Given the description of an element on the screen output the (x, y) to click on. 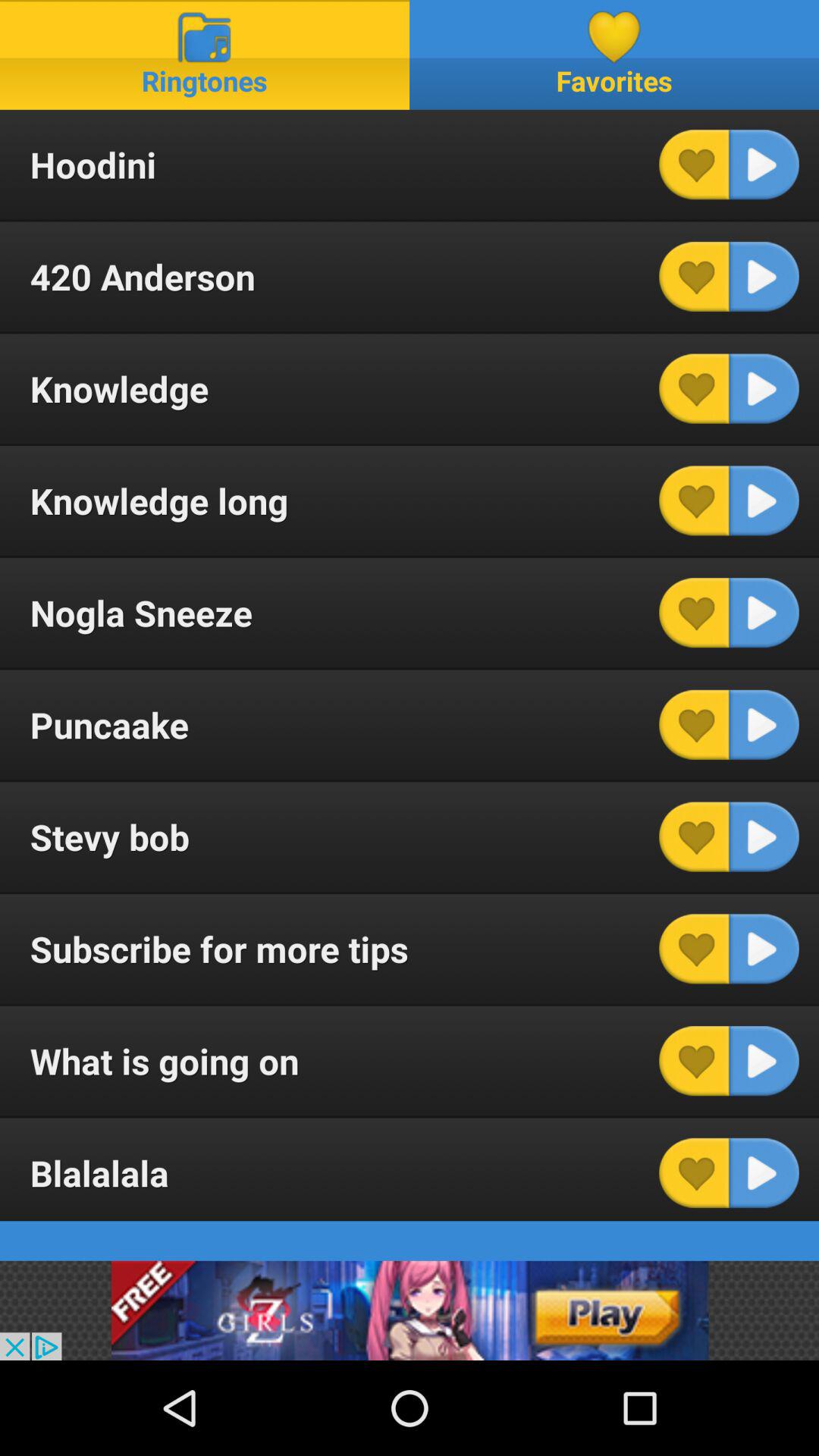
favorite this (694, 500)
